Given the description of an element on the screen output the (x, y) to click on. 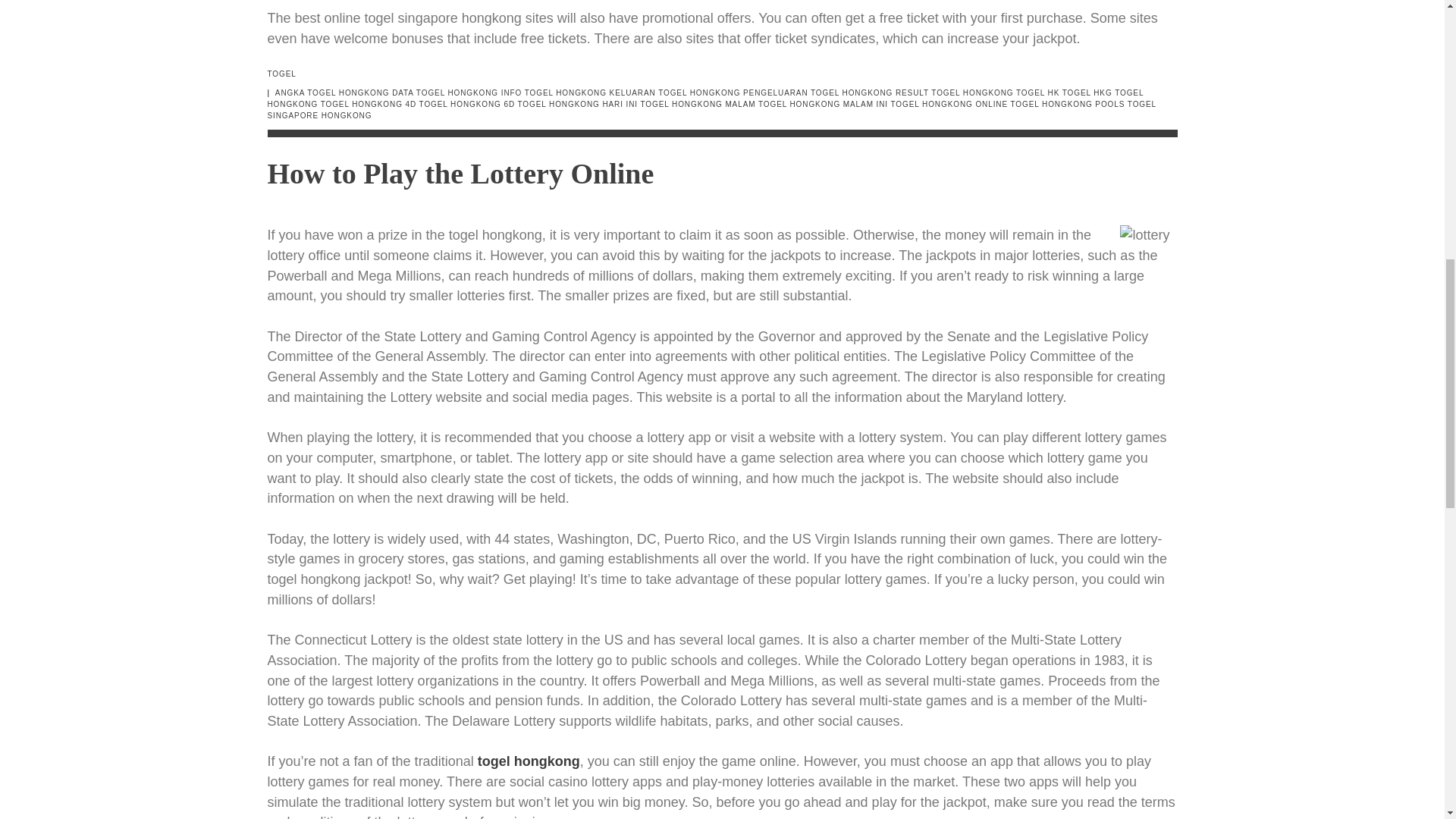
TOGEL HONGKONG 4D (368, 103)
TOGEL SINGAPORE HONGKONG (711, 109)
TOGEL HONGKONG HARI INI (578, 103)
INFO TOGEL HONGKONG (553, 92)
RESULT TOGEL HONGKONG (954, 92)
PENGELUARAN TOGEL HONGKONG (817, 92)
How to Play the Lottery Online (459, 173)
TOGEL HONGKONG (704, 98)
How to Play the Lottery Online (459, 173)
TOGEL HONGKONG POOLS (1067, 103)
